Given the description of an element on the screen output the (x, y) to click on. 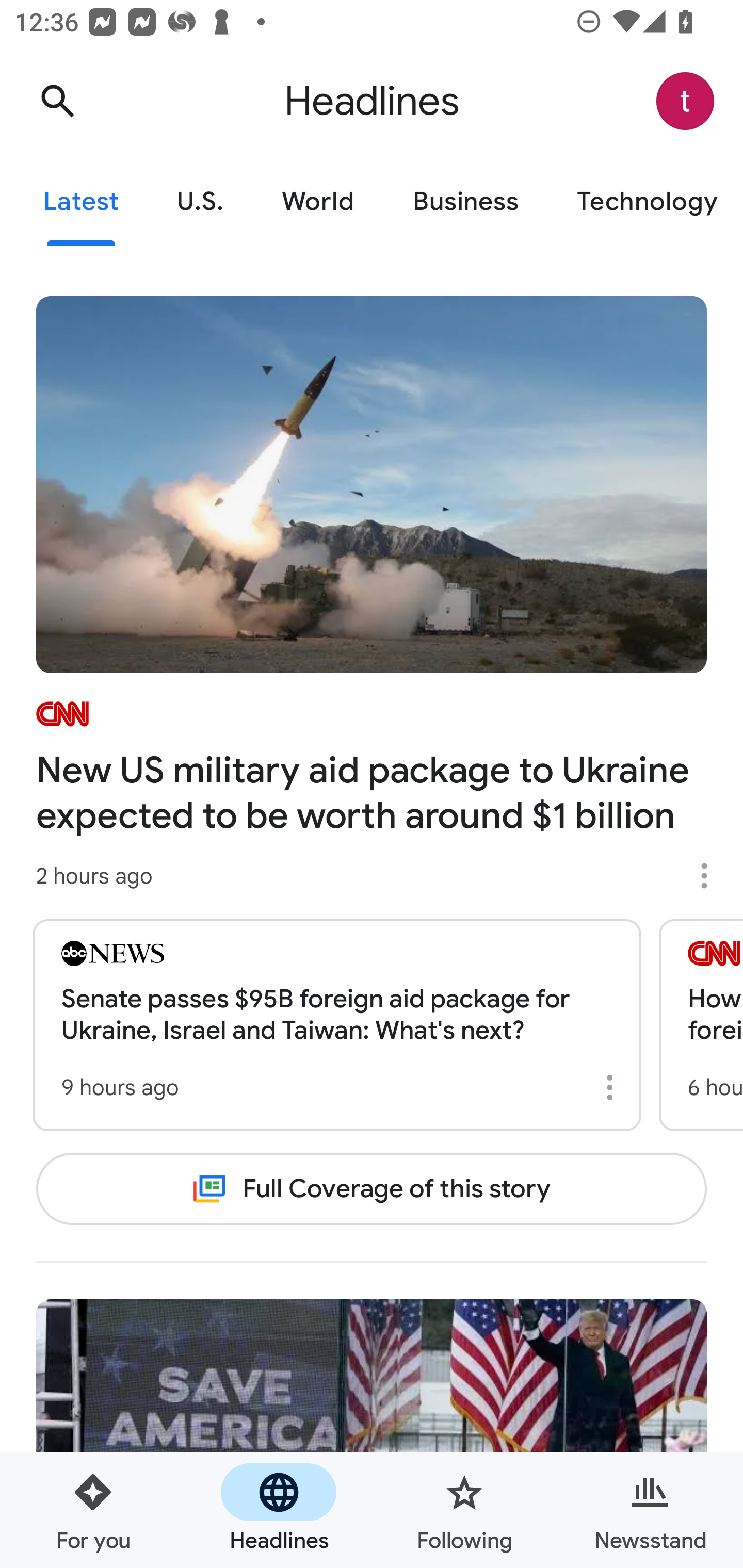
Search (57, 100)
U.S. (199, 202)
World (317, 202)
Business (465, 202)
Technology (645, 202)
More options (711, 875)
More options (613, 1086)
Full Coverage of this story (371, 1188)
For you (92, 1509)
Headlines (278, 1509)
Following (464, 1509)
Newsstand (650, 1509)
